Given the description of an element on the screen output the (x, y) to click on. 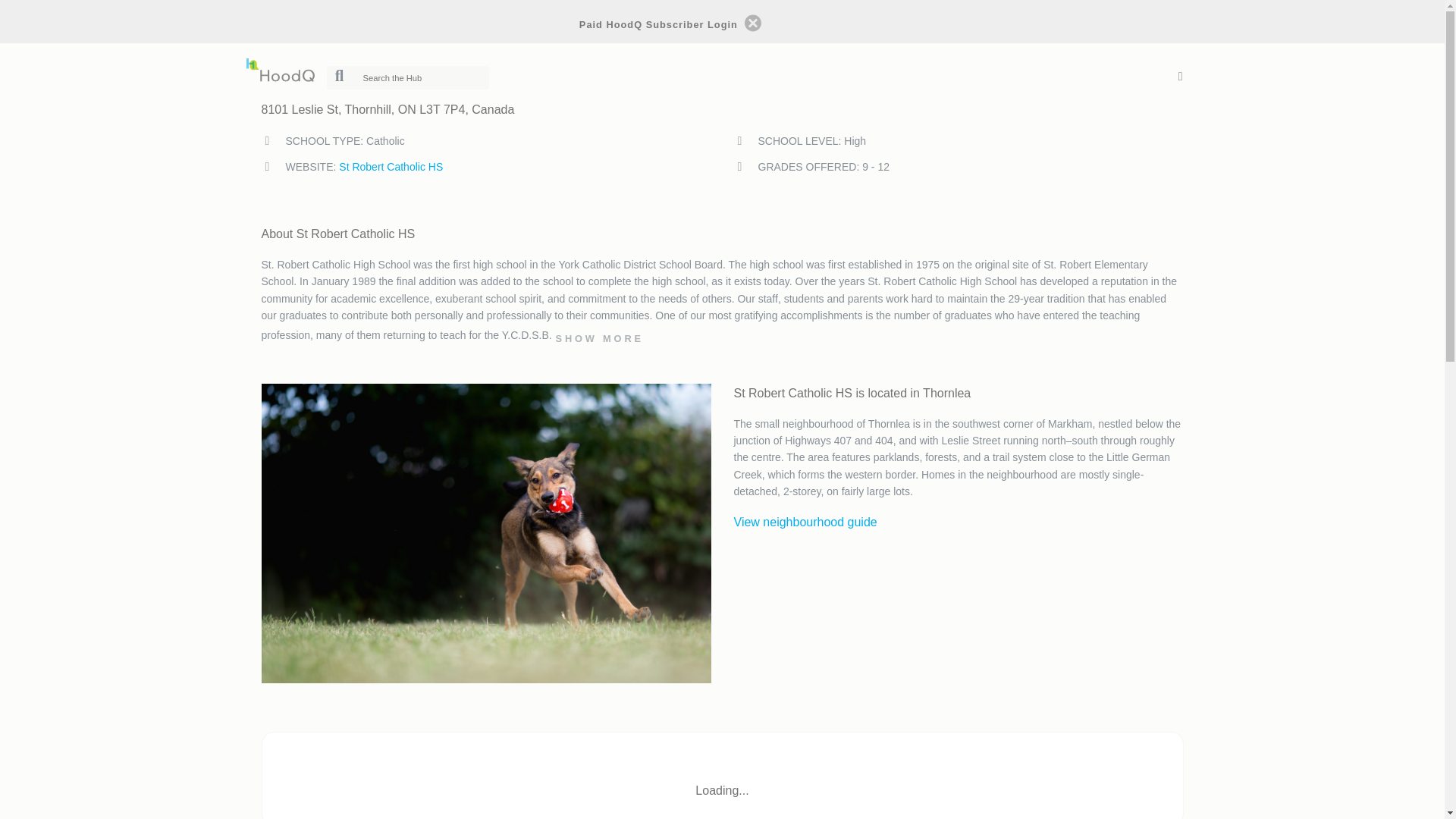
Paid HoodQ Subscriber Login (658, 23)
THORNLEA SCHOOLS (341, 32)
SHOW MORE (603, 338)
St Robert Catholic HS (390, 166)
View neighbourhood guide (805, 522)
